Given the description of an element on the screen output the (x, y) to click on. 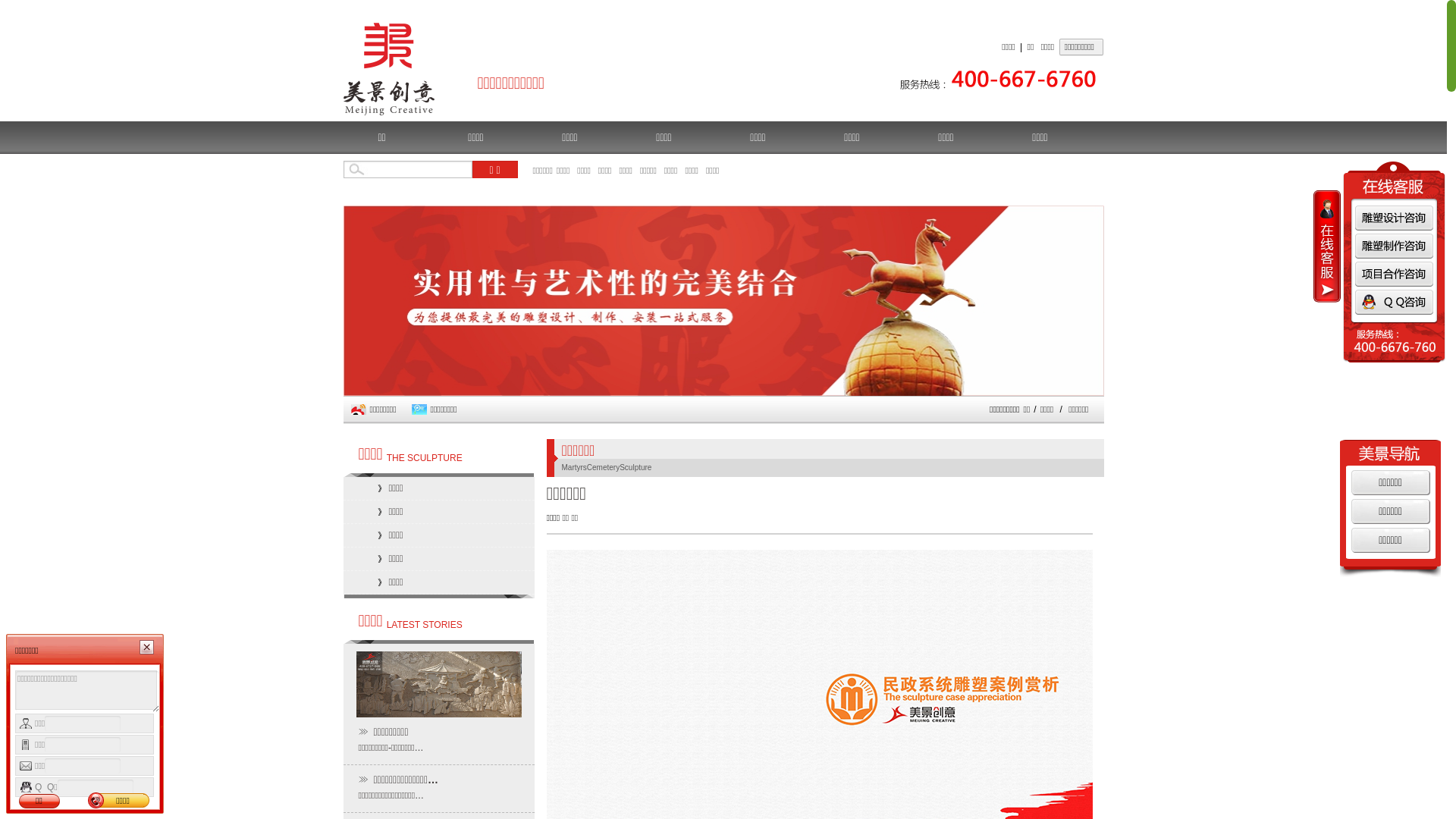
  Element type: text (1394, 301)
  Element type: text (1394, 273)
  Element type: text (1393, 265)
  Element type: text (1394, 216)
  Element type: text (1394, 245)
  Element type: text (1326, 245)
